Given the description of an element on the screen output the (x, y) to click on. 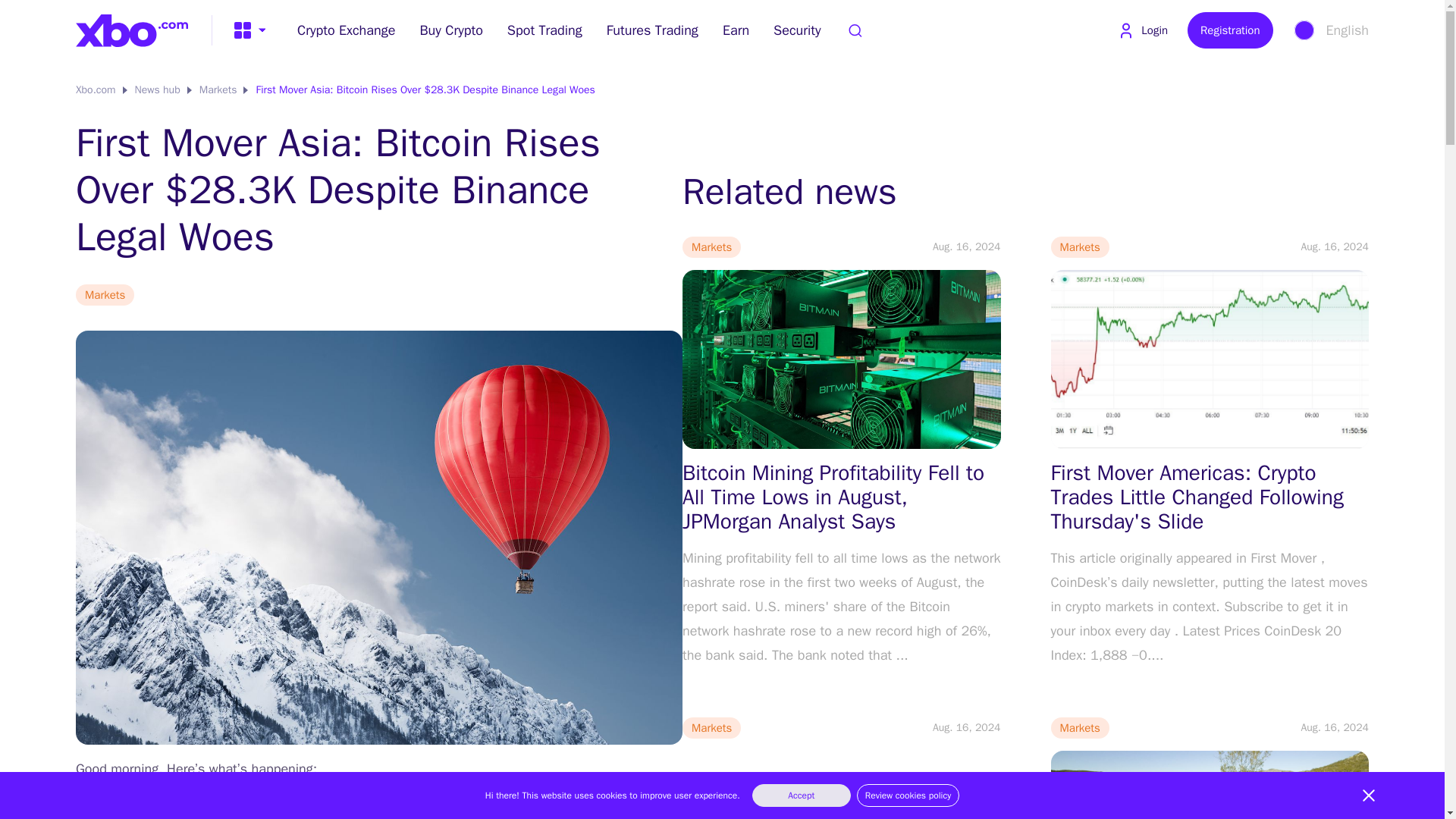
Futures Trading (652, 30)
News hub (157, 89)
Xbo.com (95, 89)
Login (1141, 29)
Spot Trading (544, 30)
Buy Crypto (450, 30)
Crypto Exchange (345, 30)
Registration (1230, 30)
English (1330, 30)
Markets (218, 89)
